Given the description of an element on the screen output the (x, y) to click on. 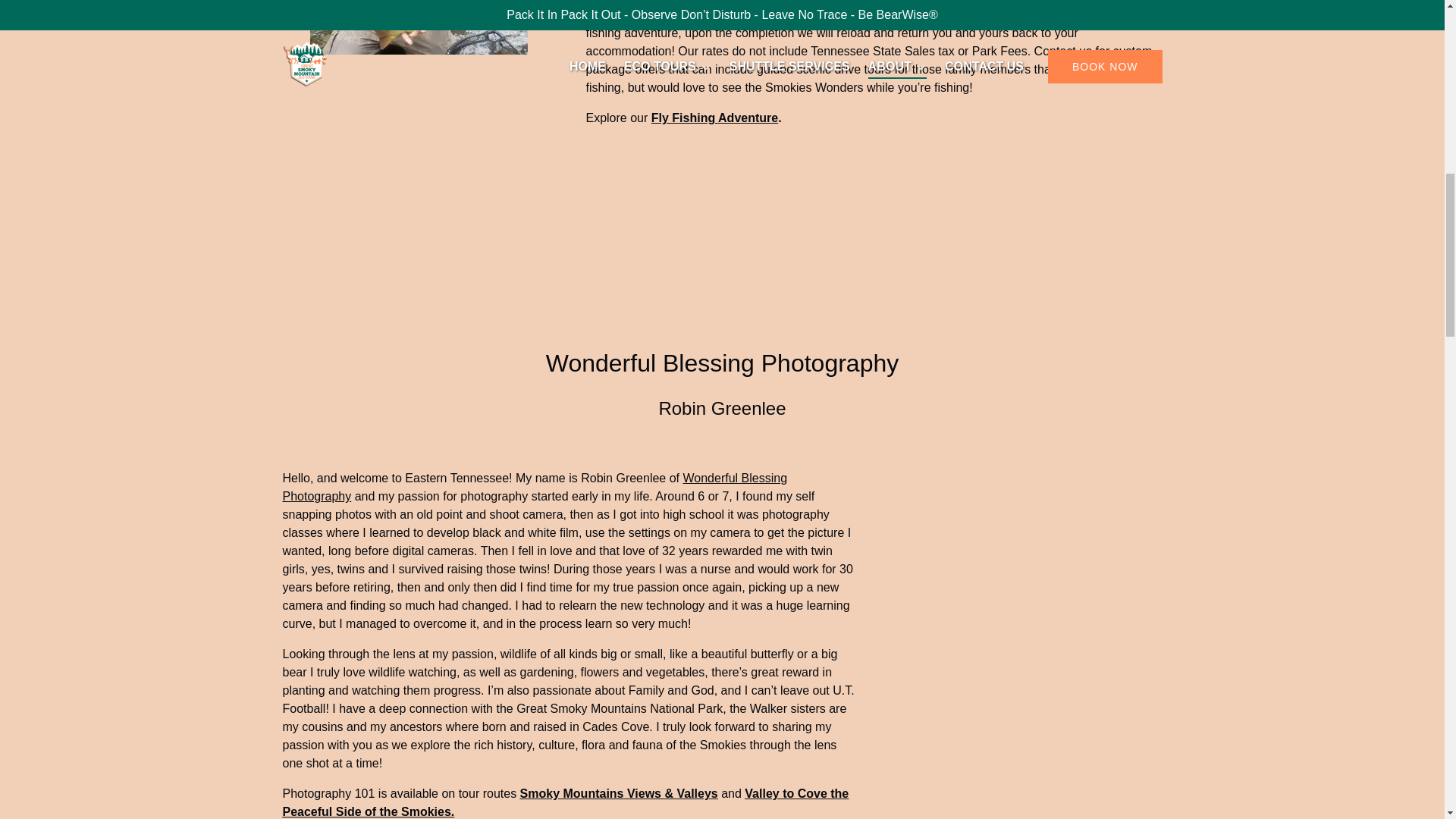
Wonderful Blessing Photography (534, 486)
Valley to Cove the Peaceful Side of the Smokies (565, 802)
Fly Fishing Adventure (713, 117)
FareHarbor (1342, 64)
